Given the description of an element on the screen output the (x, y) to click on. 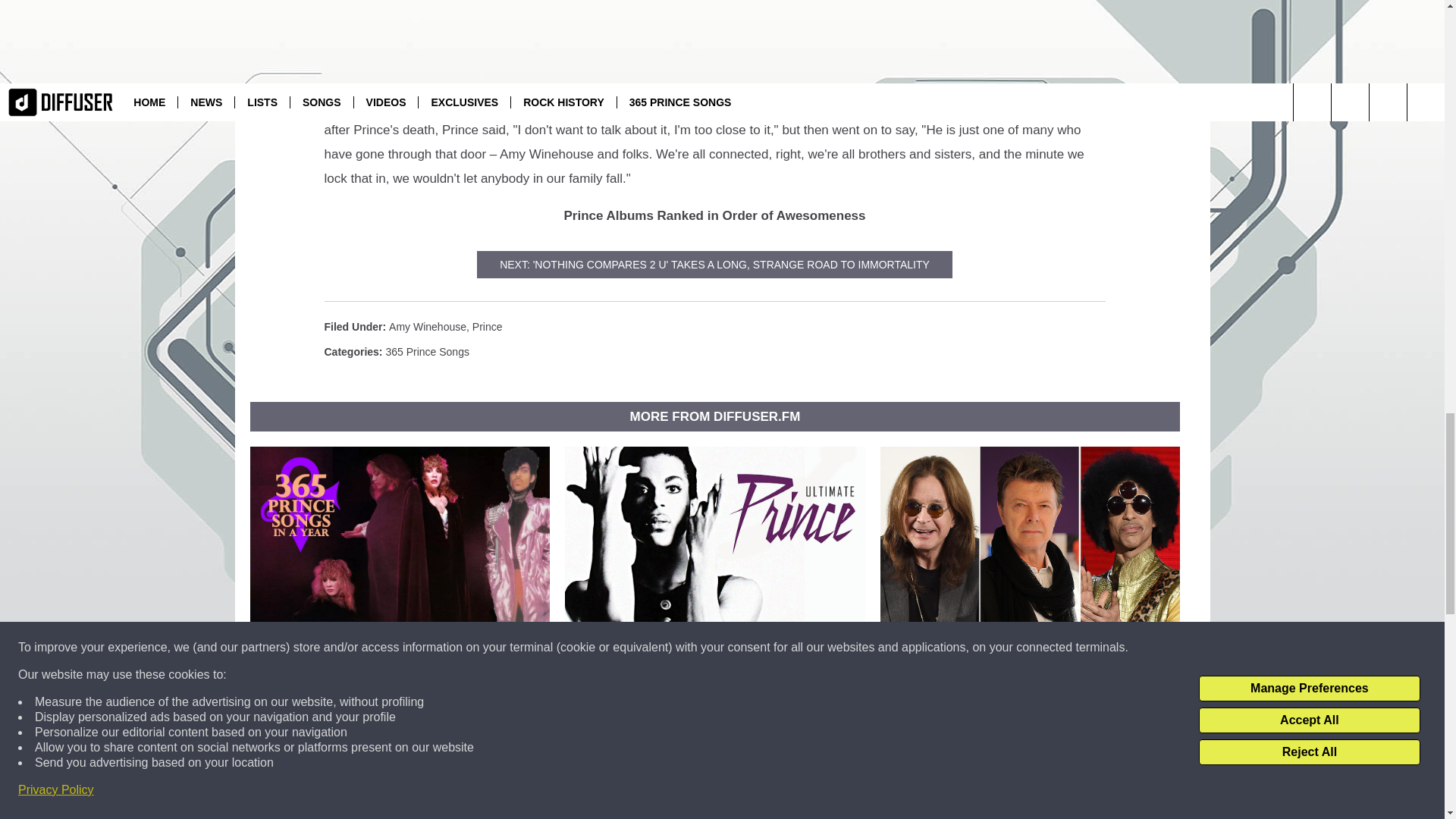
Prince (486, 326)
Rolling Stone (840, 105)
365 Prince Songs (426, 351)
Michael Jackson (647, 105)
Amy Winehouse (426, 326)
